Given the description of an element on the screen output the (x, y) to click on. 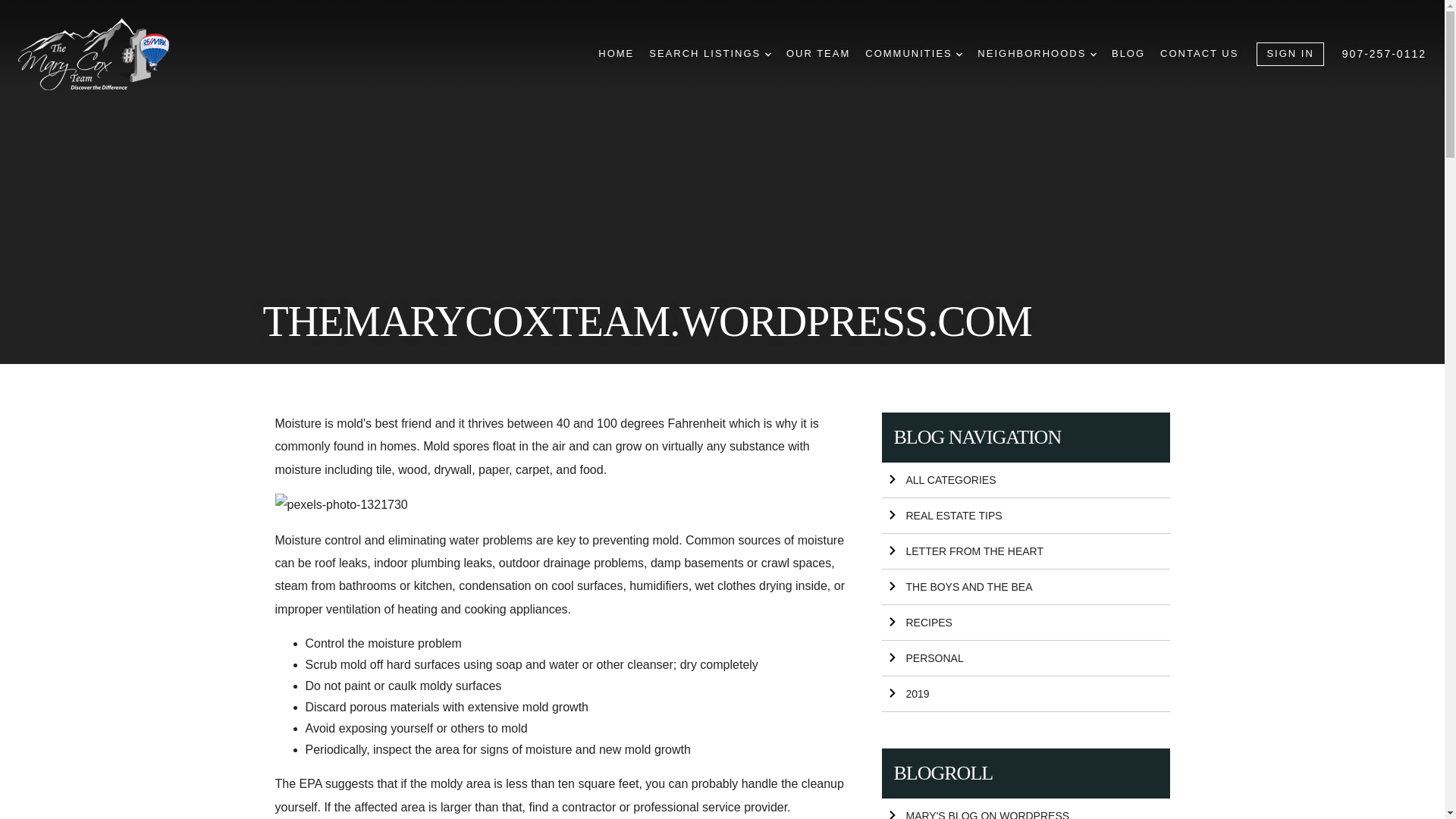
907-257-0112 (1384, 53)
BLOG (1128, 53)
NEIGHBORHOODS DROPDOWN ARROW (1036, 53)
SIGN IN (1289, 54)
OUR TEAM (818, 53)
SEARCH LISTINGS DROPDOWN ARROW (710, 53)
DROPDOWN ARROW (768, 54)
CONTACT US (1199, 53)
HOME (615, 53)
DROPDOWN ARROW (1093, 54)
